Given the description of an element on the screen output the (x, y) to click on. 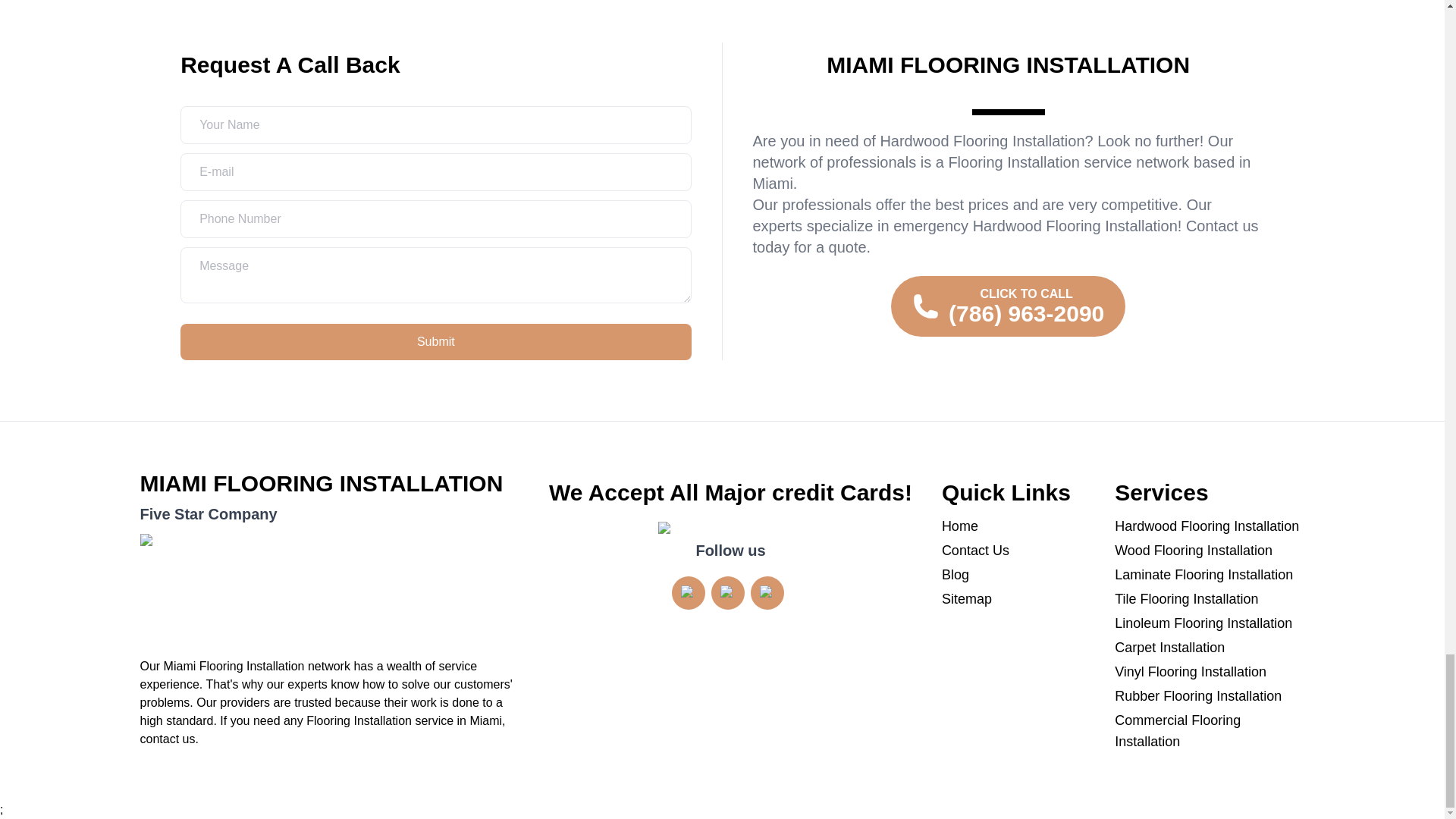
Instagram icon (688, 592)
Click to call us (1008, 306)
Bank Card Image (730, 530)
Star Set Image (329, 589)
Facebook (767, 592)
Twitter (727, 592)
Instagram (687, 592)
twitter logo (727, 592)
Facebook logo (767, 592)
